Given the description of an element on the screen output the (x, y) to click on. 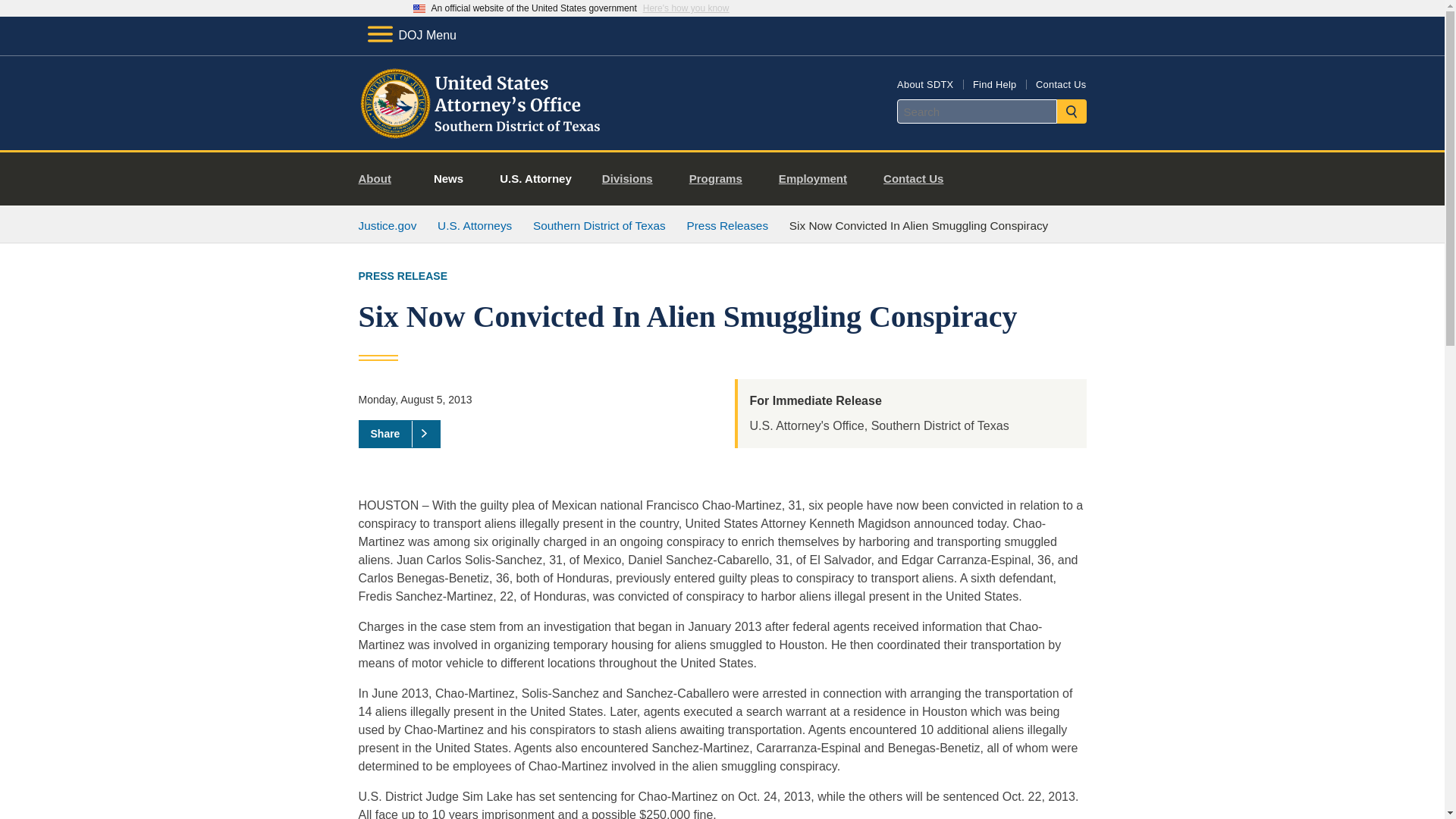
Justice.gov (387, 225)
Southern District of Texas (598, 225)
U.S. Attorneys (475, 225)
DOJ Menu (411, 35)
Contact Us (1060, 84)
U.S. Attorney (535, 179)
About SDTX (924, 84)
News (447, 179)
Employment (818, 179)
About (380, 179)
